Given the description of an element on the screen output the (x, y) to click on. 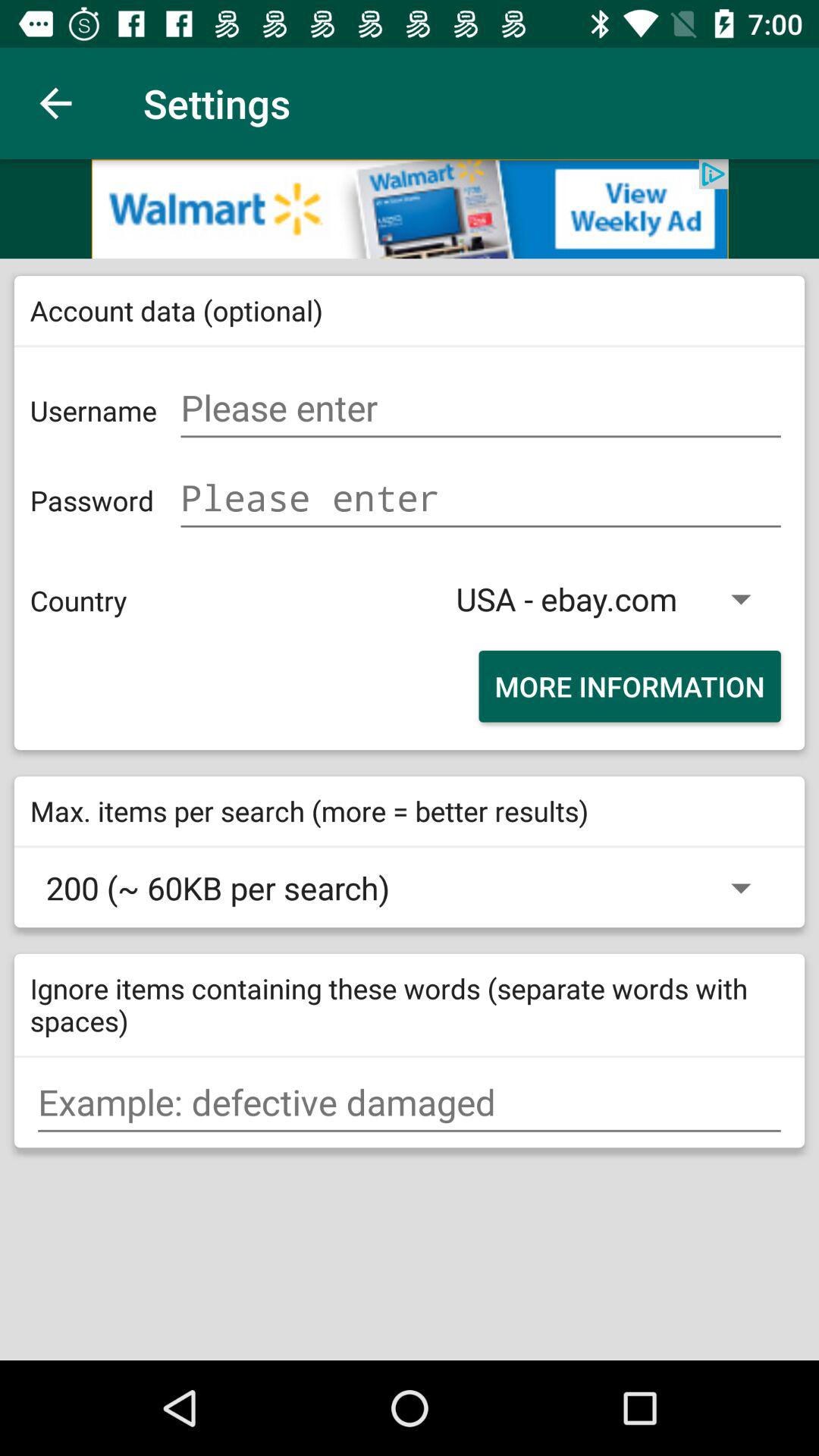
open keyboard to enter password (480, 498)
